Given the description of an element on the screen output the (x, y) to click on. 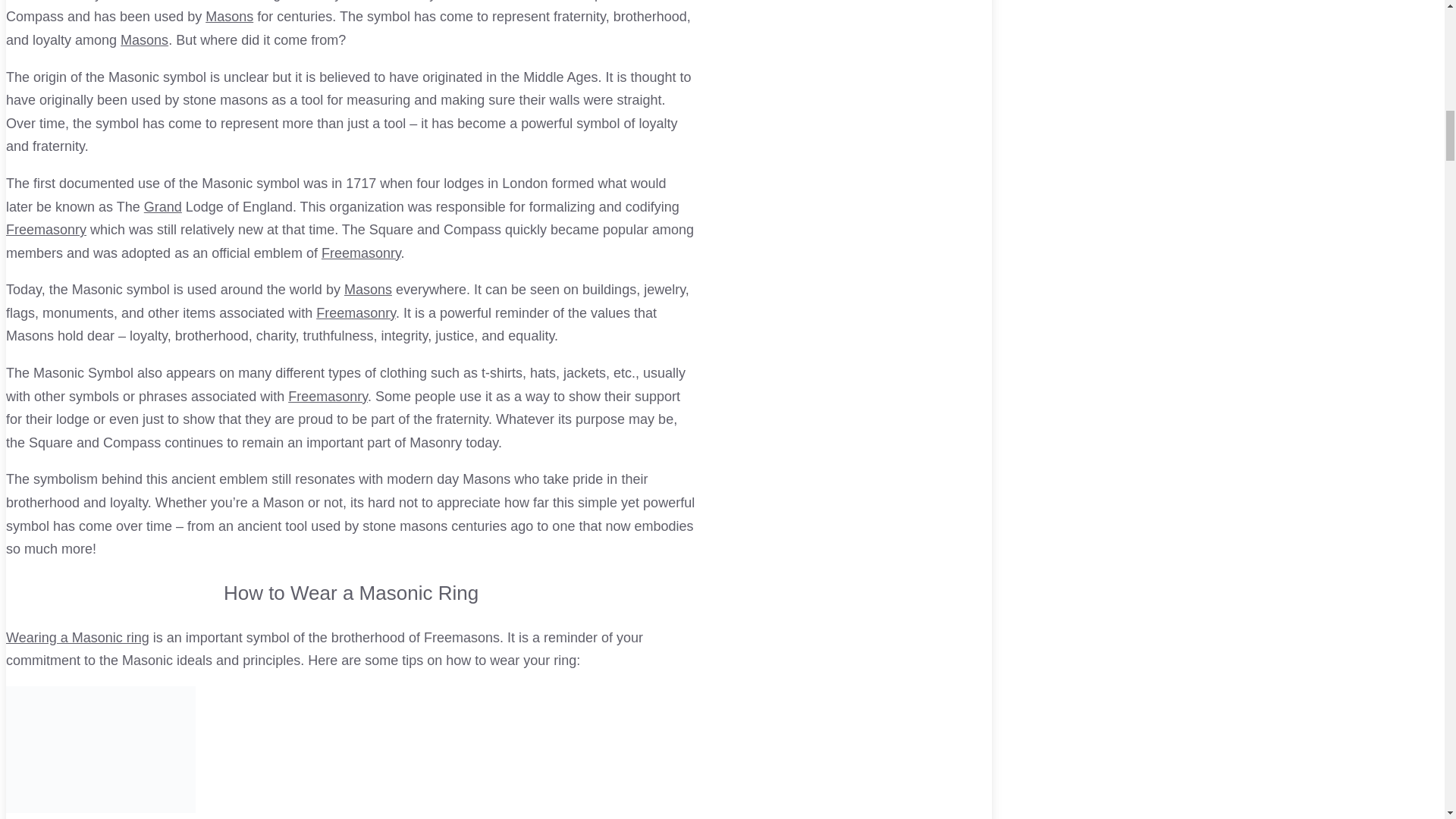
Read morefreemasonry Unveiled (350, 809)
Masons (144, 39)
Freemasonry (328, 396)
Masons (367, 289)
Provincial Grand Lodge Of Worcestershire (163, 206)
When Can You Wear A Masonic Ring (77, 637)
Freemasonry (355, 313)
Grand (163, 206)
Freemasonry (361, 253)
Freemasonry (328, 396)
Freemasonry (45, 229)
Masons (229, 16)
Freemasonry (355, 313)
Wearing a Masonic ring (77, 637)
